Given the description of an element on the screen output the (x, y) to click on. 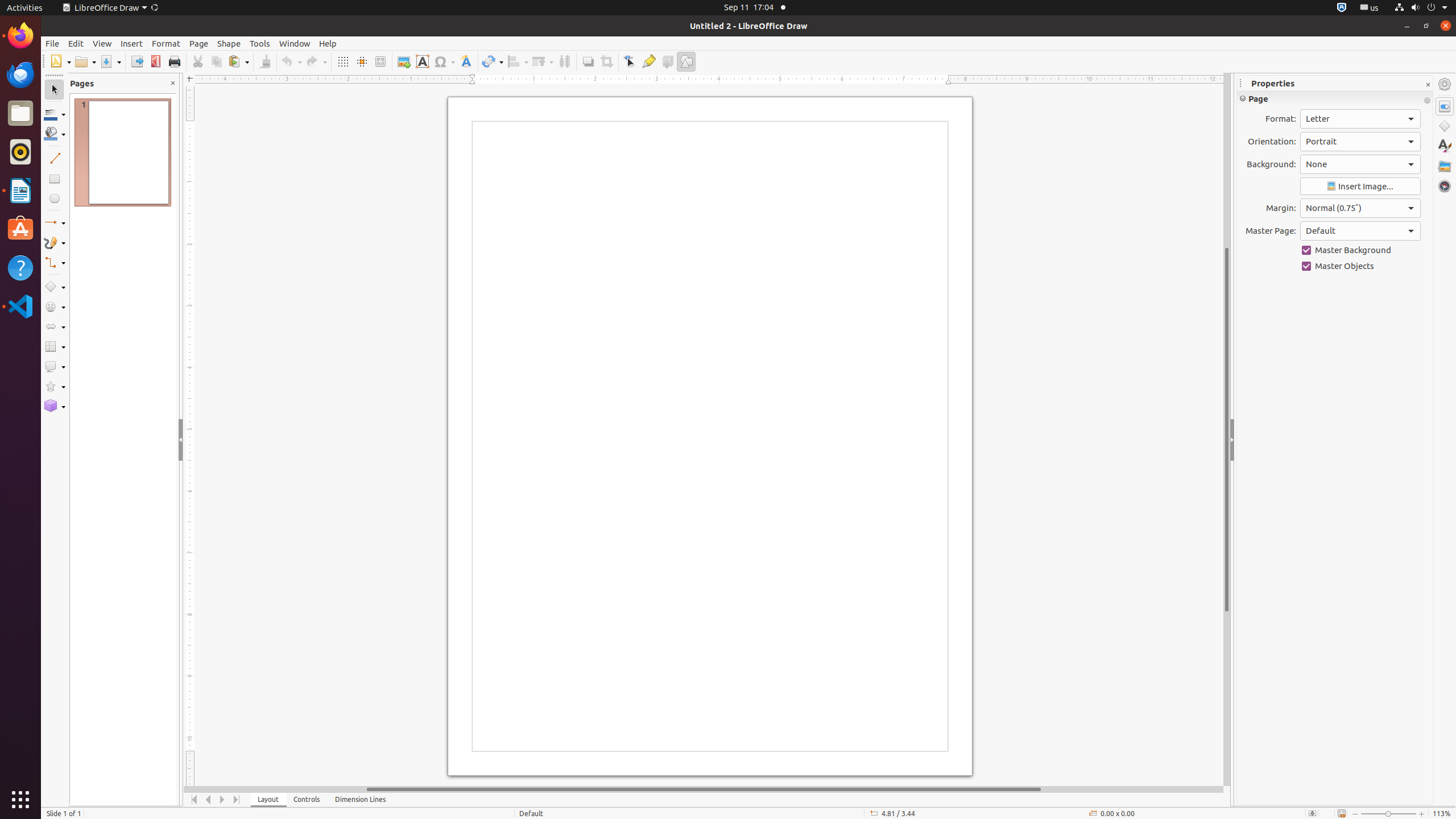
View Element type: menu (102, 43)
PDF Element type: push-button (155, 61)
Page Element type: panel (1334, 98)
Vertical Ruler Element type: ruler (190, 436)
